Given the description of an element on the screen output the (x, y) to click on. 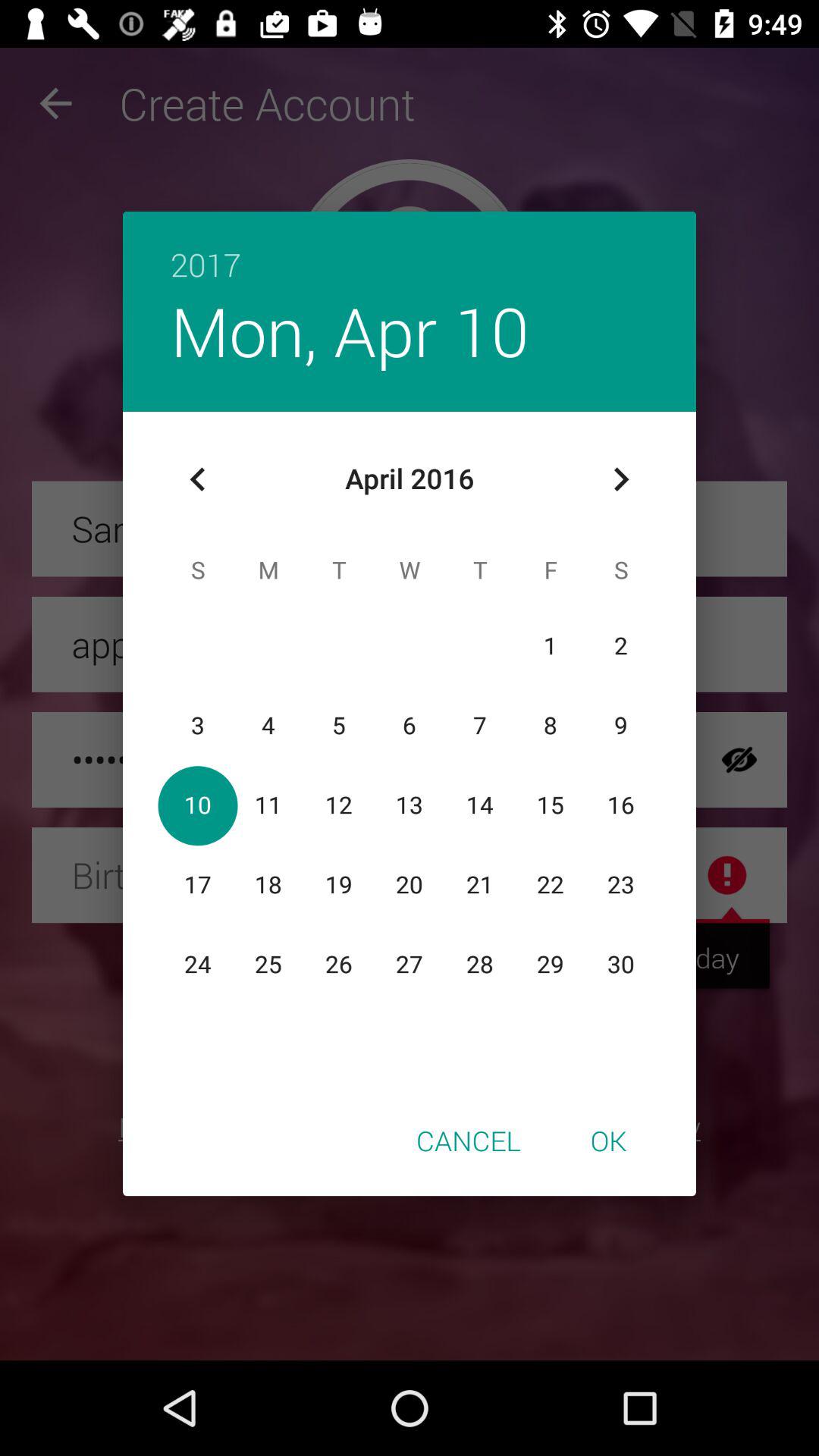
flip to the mon, apr 10 icon (349, 330)
